Given the description of an element on the screen output the (x, y) to click on. 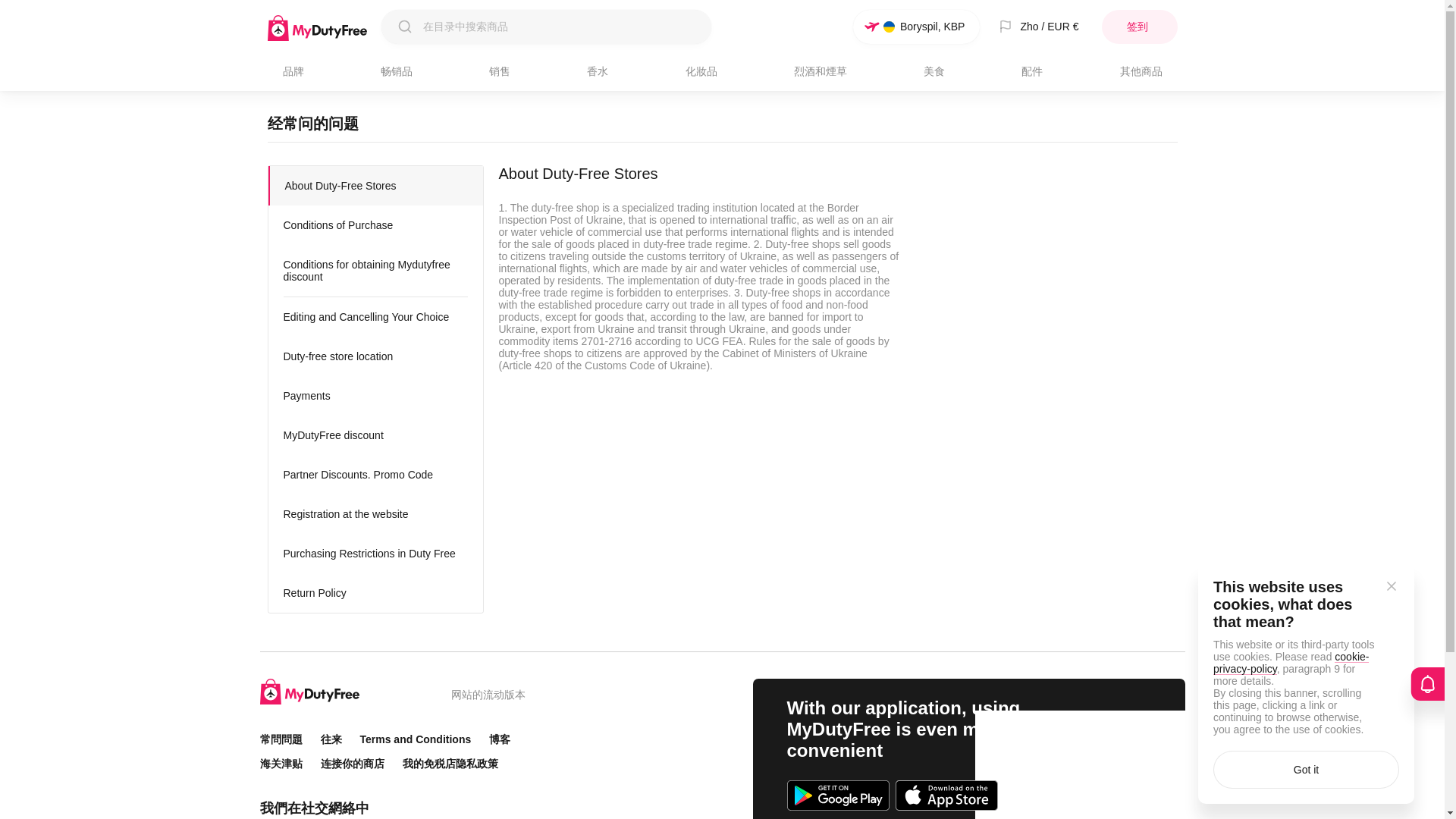
Terms and Conditions (414, 738)
